Given the description of an element on the screen output the (x, y) to click on. 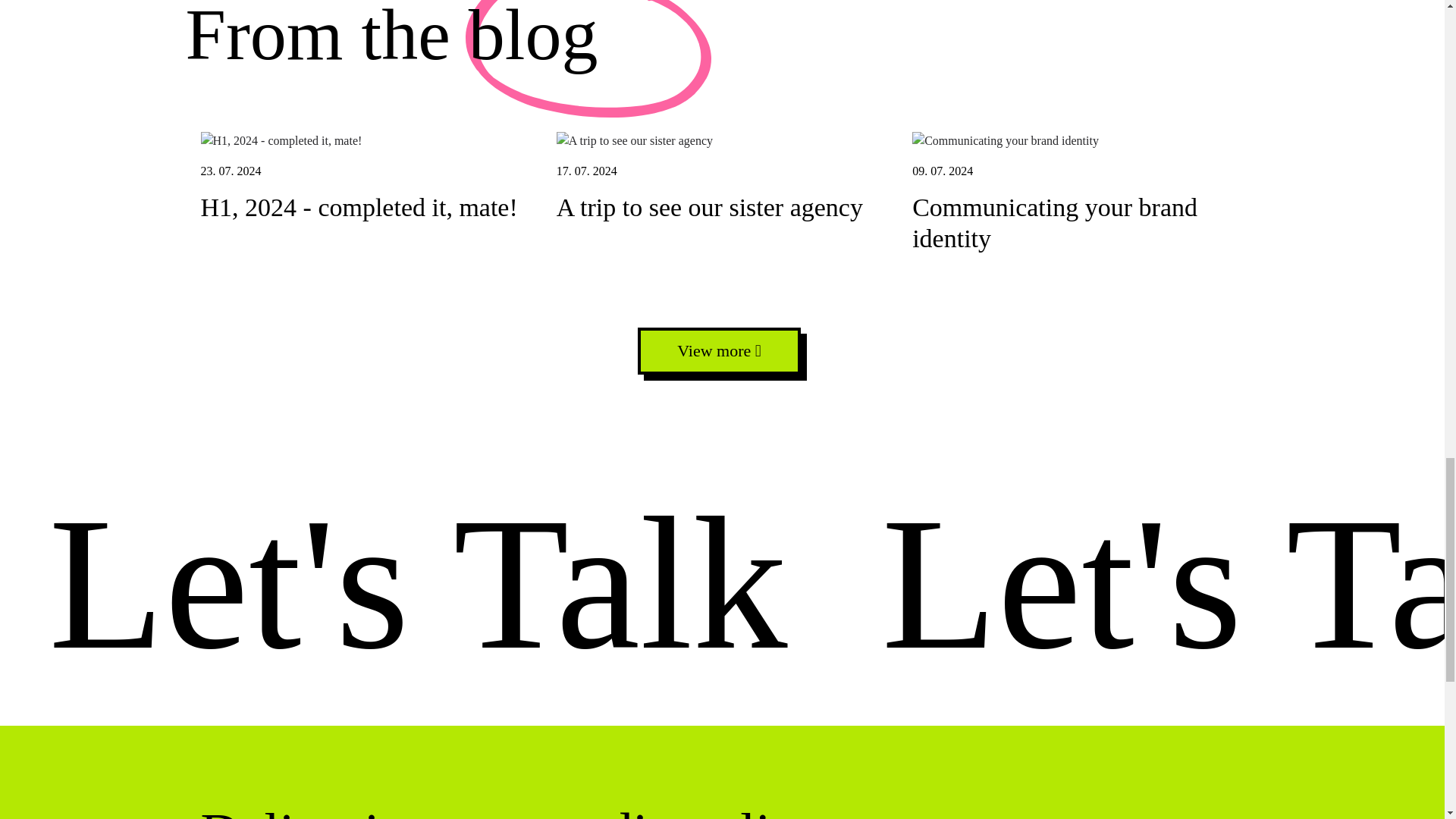
A trip to see our sister agency (722, 140)
H1, 2024 - completed it, mate! (1077, 198)
Communicating your brand identity (365, 140)
